Given the description of an element on the screen output the (x, y) to click on. 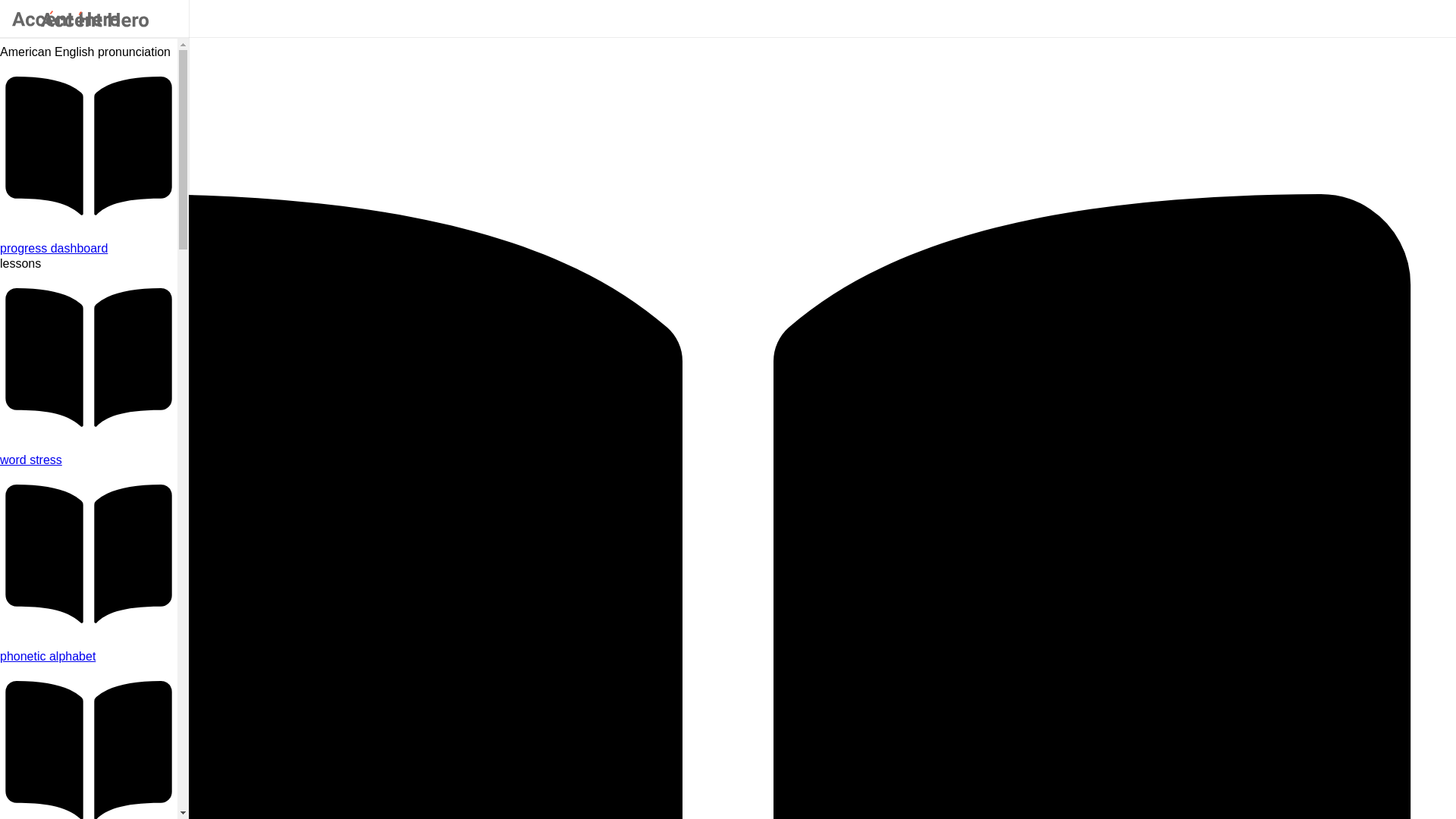
Learn how word stress influences your accent (88, 459)
Learn to precisely articulate each sound (88, 656)
